Given the description of an element on the screen output the (x, y) to click on. 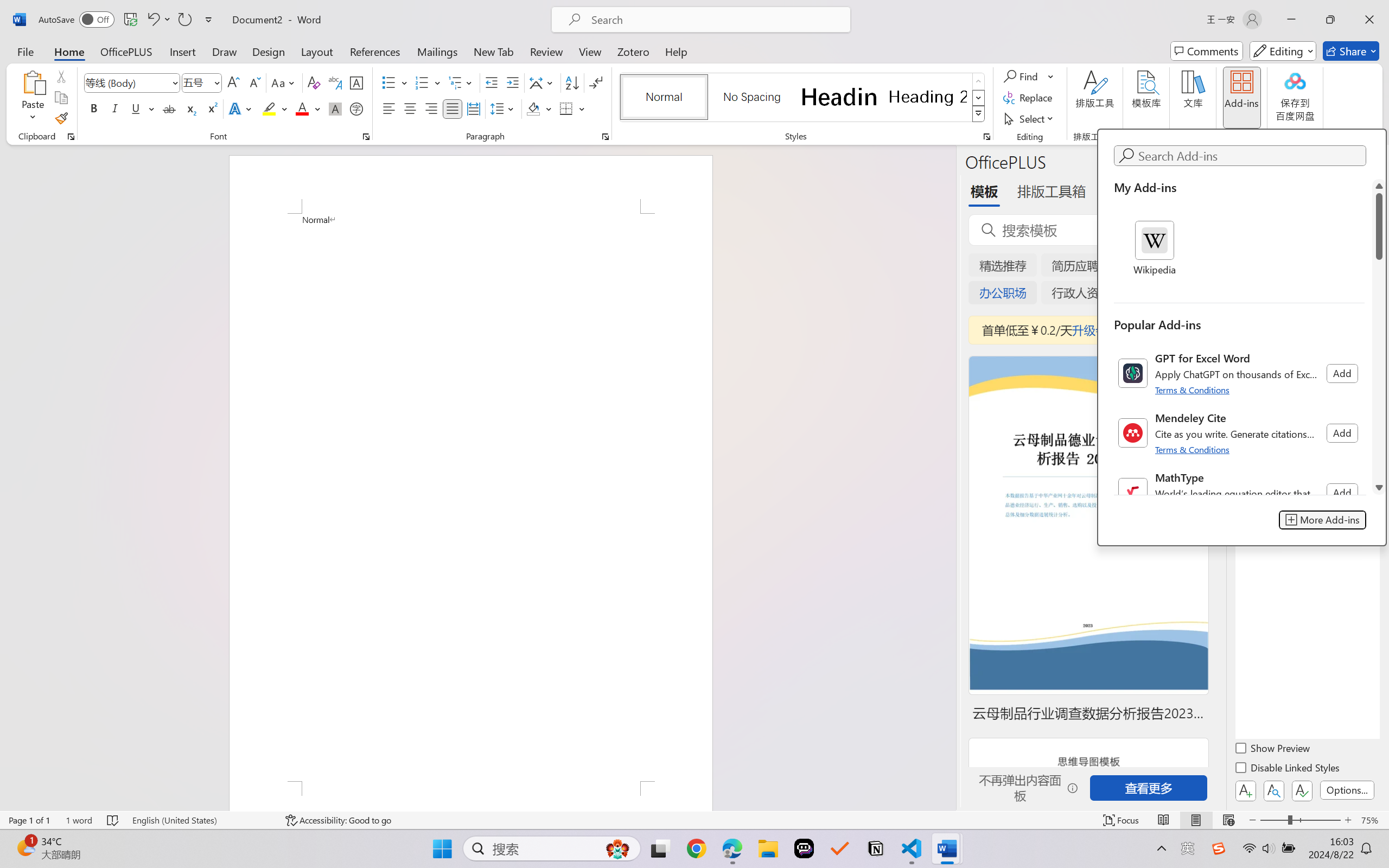
Help (675, 51)
Restore Down (1330, 19)
Class: NetUIImage (1133, 492)
GPT for Excel Word (1239, 373)
Paste (33, 81)
Strikethrough (169, 108)
File Tab (24, 51)
Bullets (388, 82)
